Given the description of an element on the screen output the (x, y) to click on. 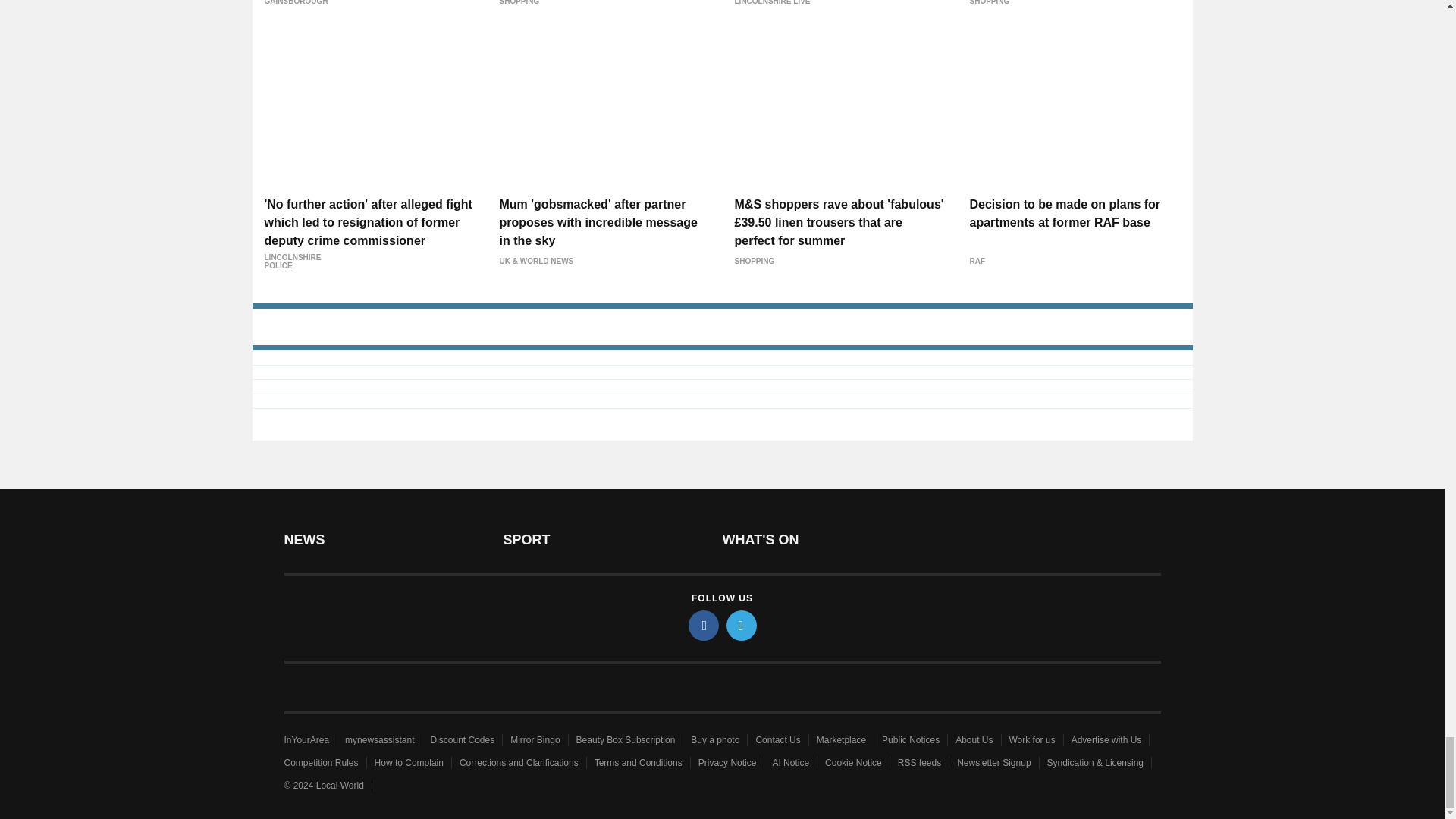
facebook (703, 625)
twitter (741, 625)
